Given the description of an element on the screen output the (x, y) to click on. 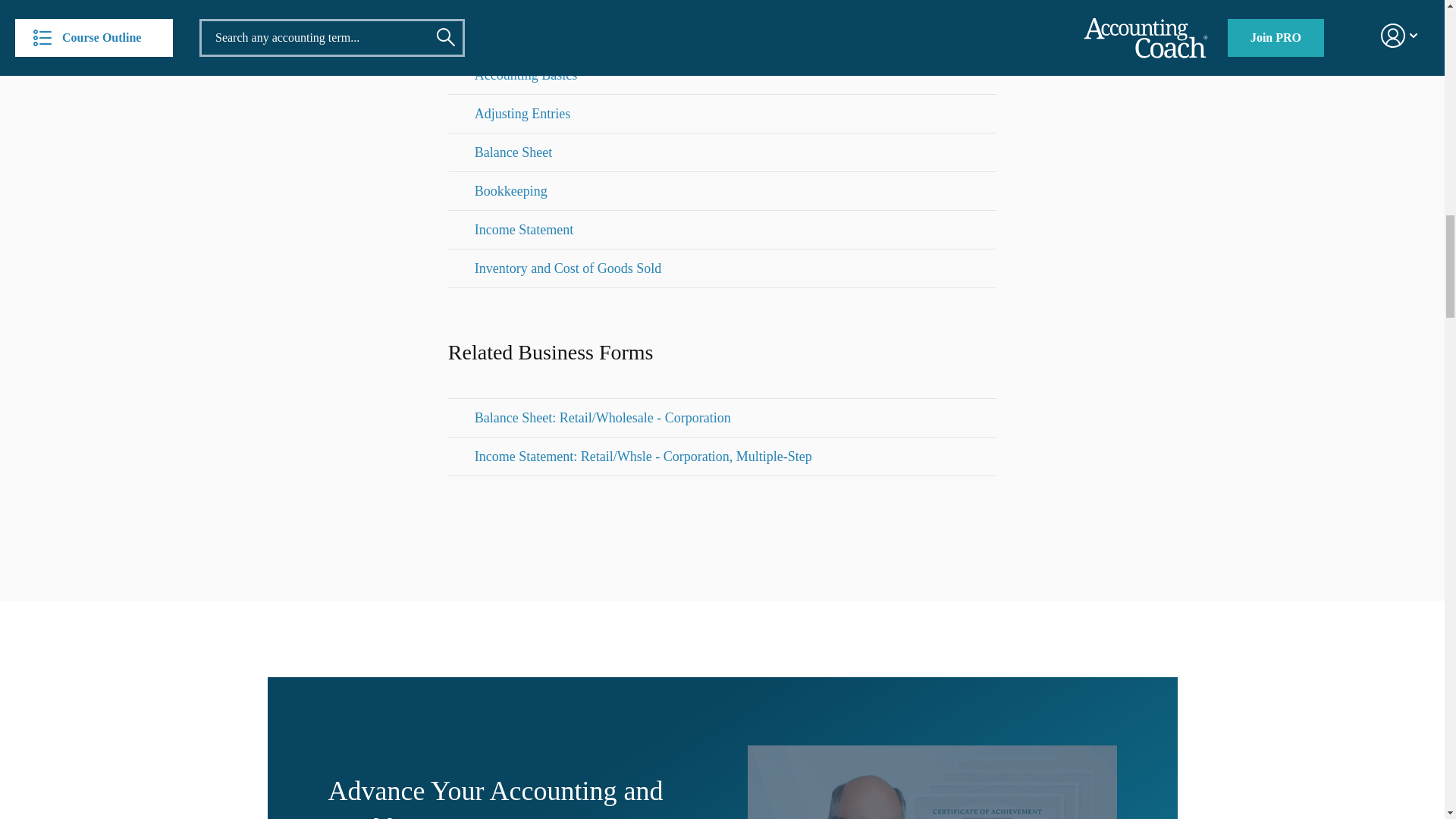
Accounting Basics (525, 74)
Adjusting Entries (522, 113)
Bookkeeping (510, 190)
Income Statement (523, 229)
Balance Sheet (512, 151)
